Given the description of an element on the screen output the (x, y) to click on. 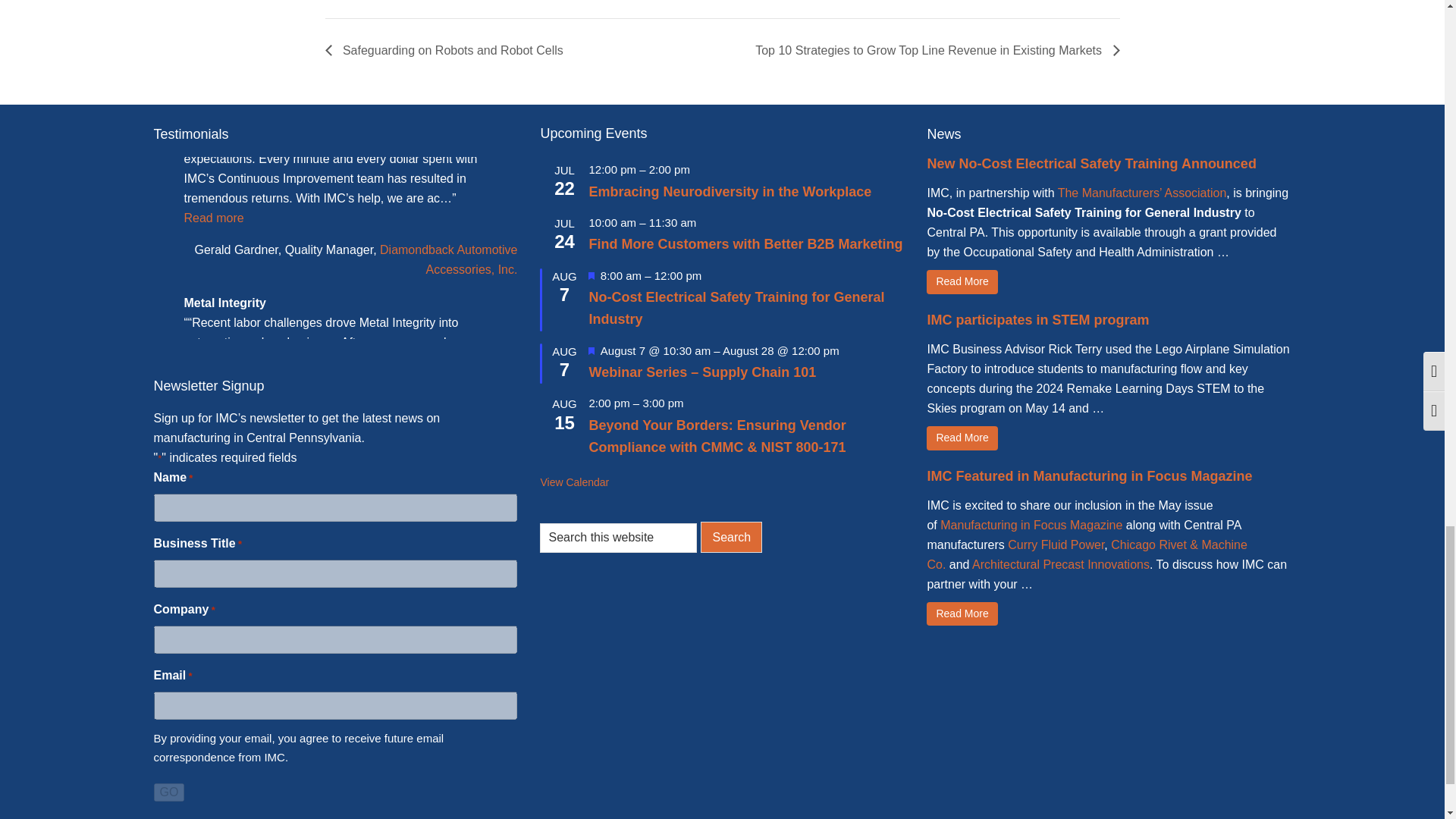
Search (730, 536)
Search (730, 536)
GO (168, 791)
